Given the description of an element on the screen output the (x, y) to click on. 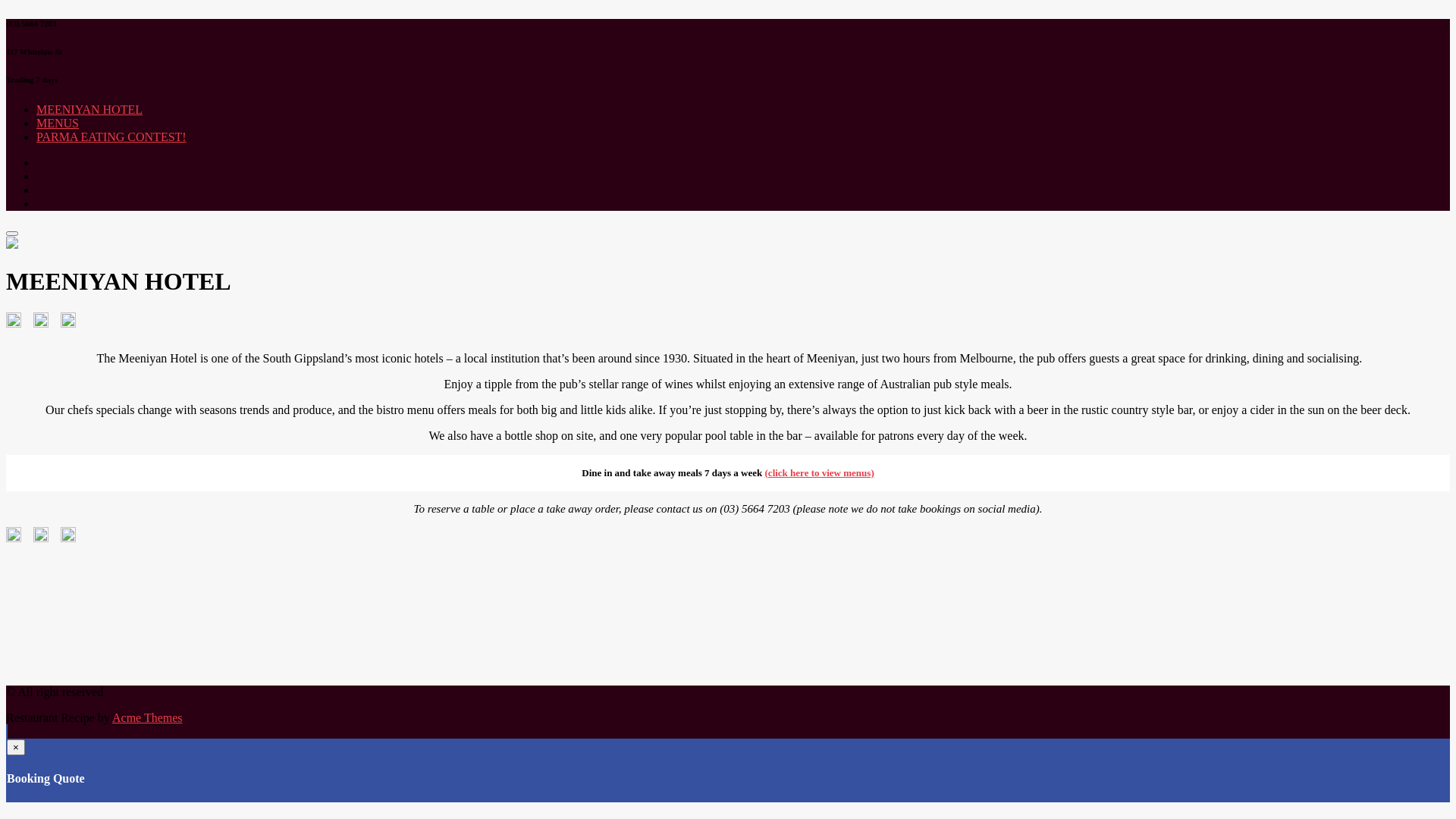
MENUS Element type: text (57, 122)
PARMA EATING CONTEST! Element type: text (111, 136)
MEENIYAN HOTEL Element type: text (89, 109)
(click here to view menus) Element type: text (819, 472)
Skip to content Element type: text (5, 18)
Acme Themes Element type: text (147, 717)
